Given the description of an element on the screen output the (x, y) to click on. 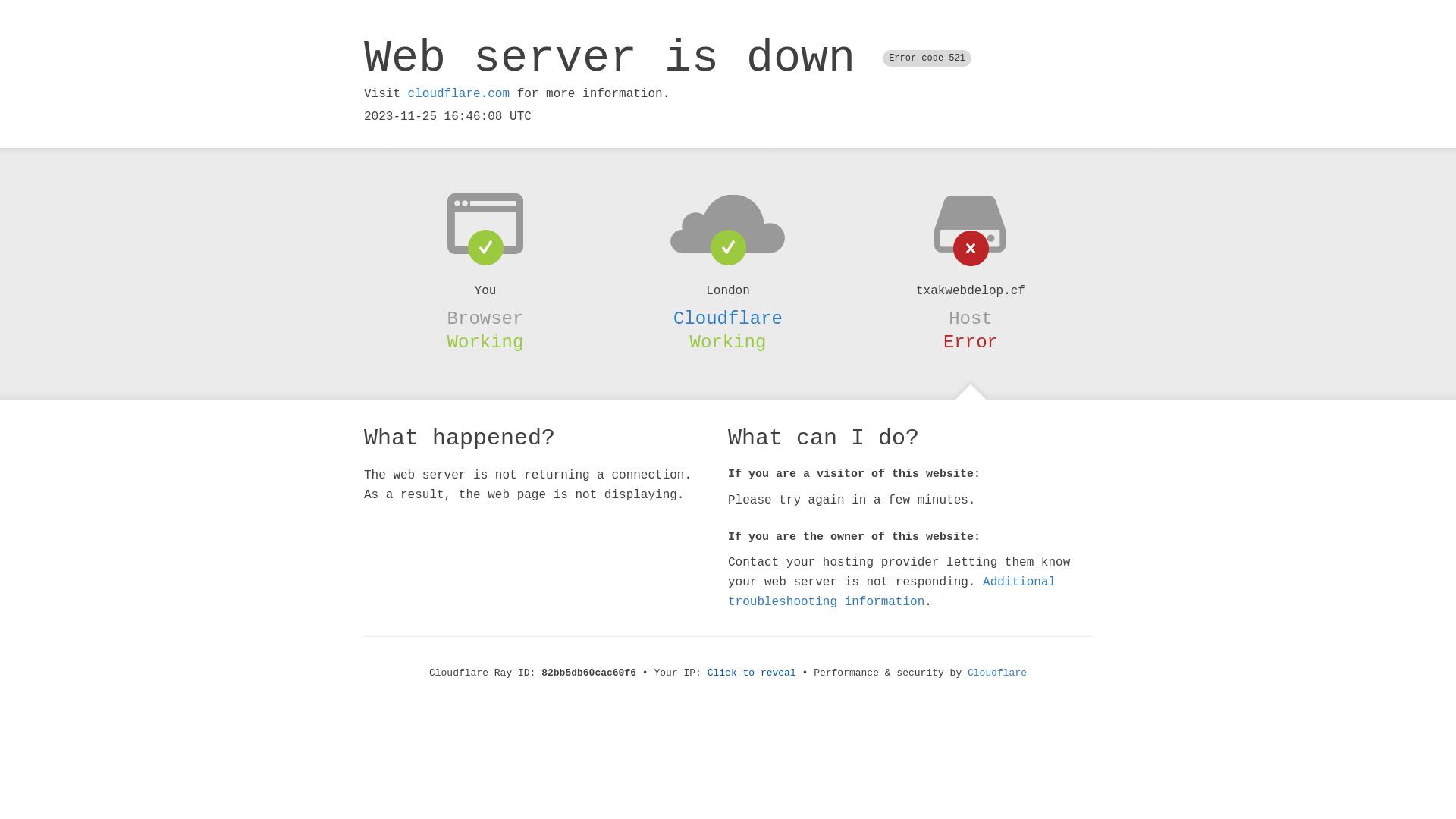
Click to reveal Element type: text (751, 672)
Cloudflare Element type: text (727, 318)
Additional troubleshooting information Element type: text (891, 591)
cloudflare.com Element type: text (458, 93)
Cloudflare Element type: text (996, 672)
